Given the description of an element on the screen output the (x, y) to click on. 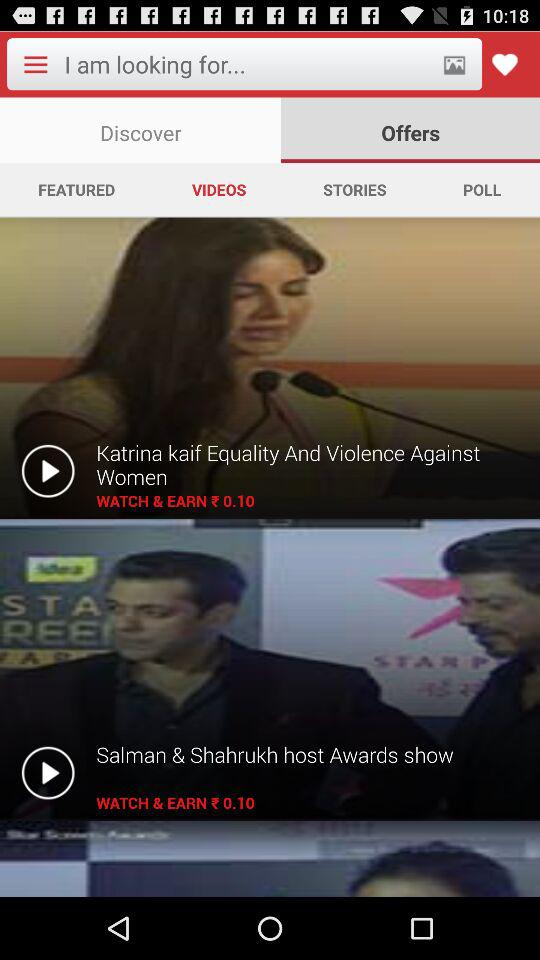
launch the app to the left of the videos item (76, 189)
